Given the description of an element on the screen output the (x, y) to click on. 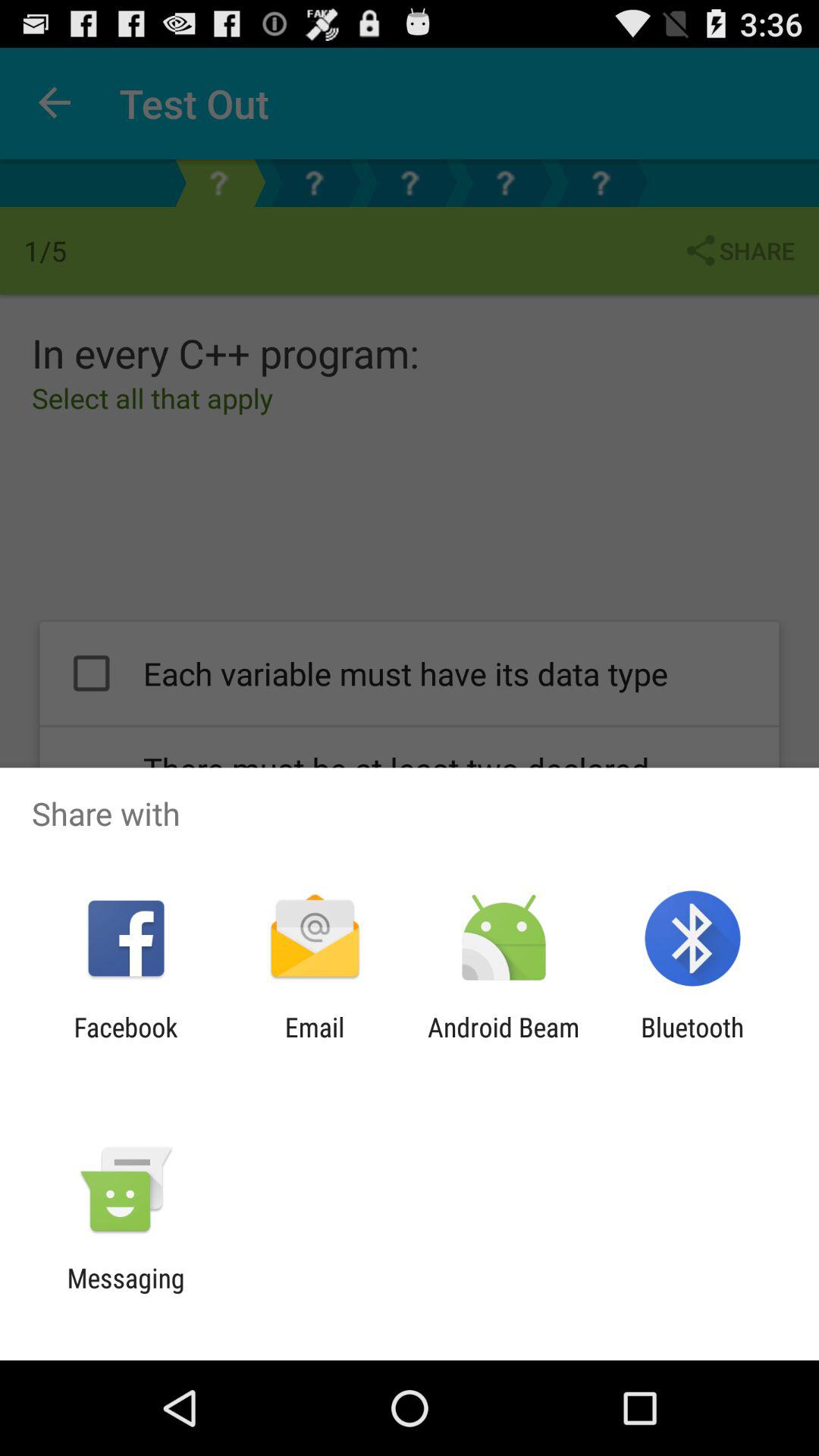
press bluetooth at the bottom right corner (691, 1042)
